Given the description of an element on the screen output the (x, y) to click on. 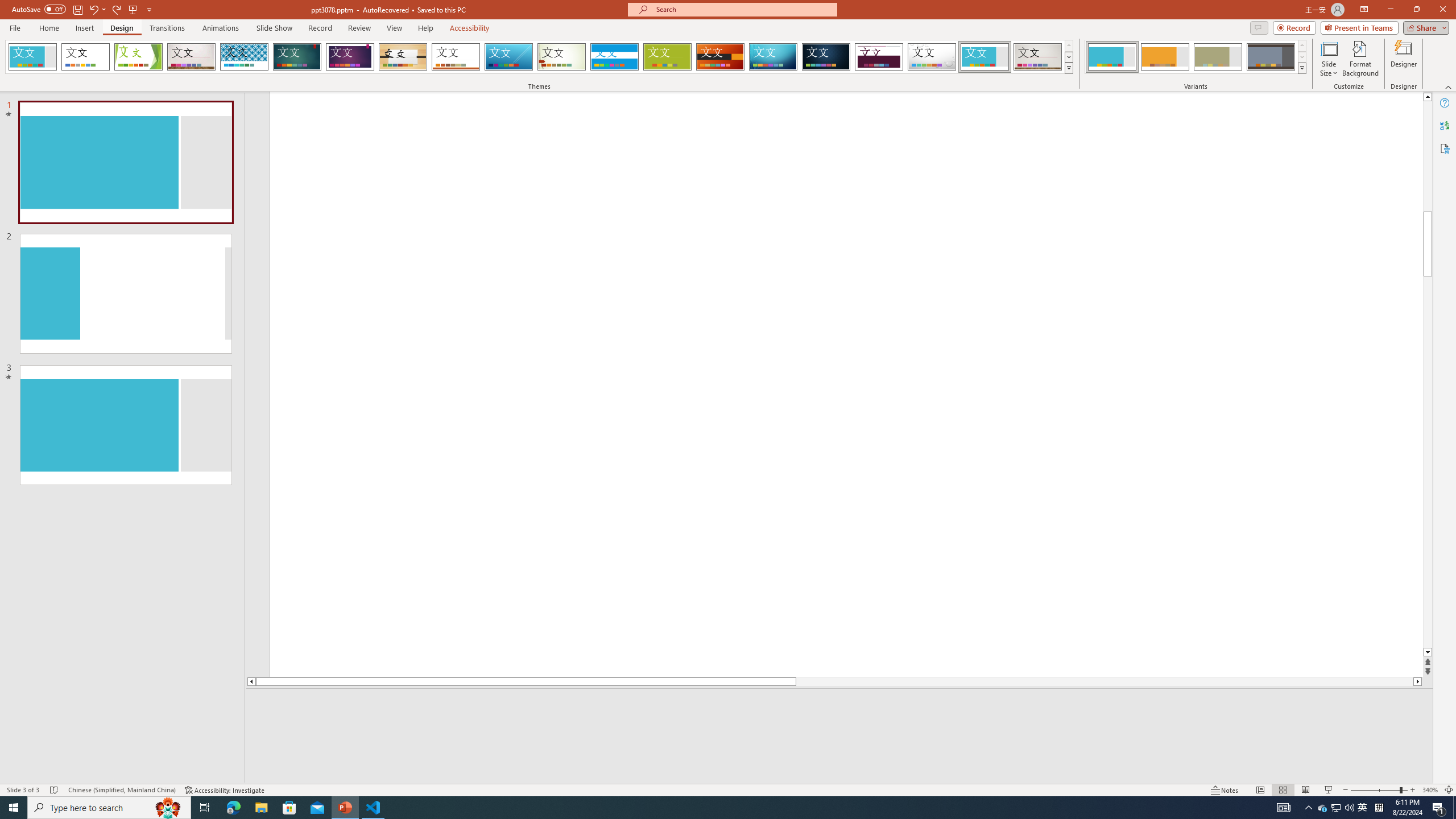
AutomationID: SlideThemesGallery (539, 56)
An abstract genetic concept (845, 395)
